Given the description of an element on the screen output the (x, y) to click on. 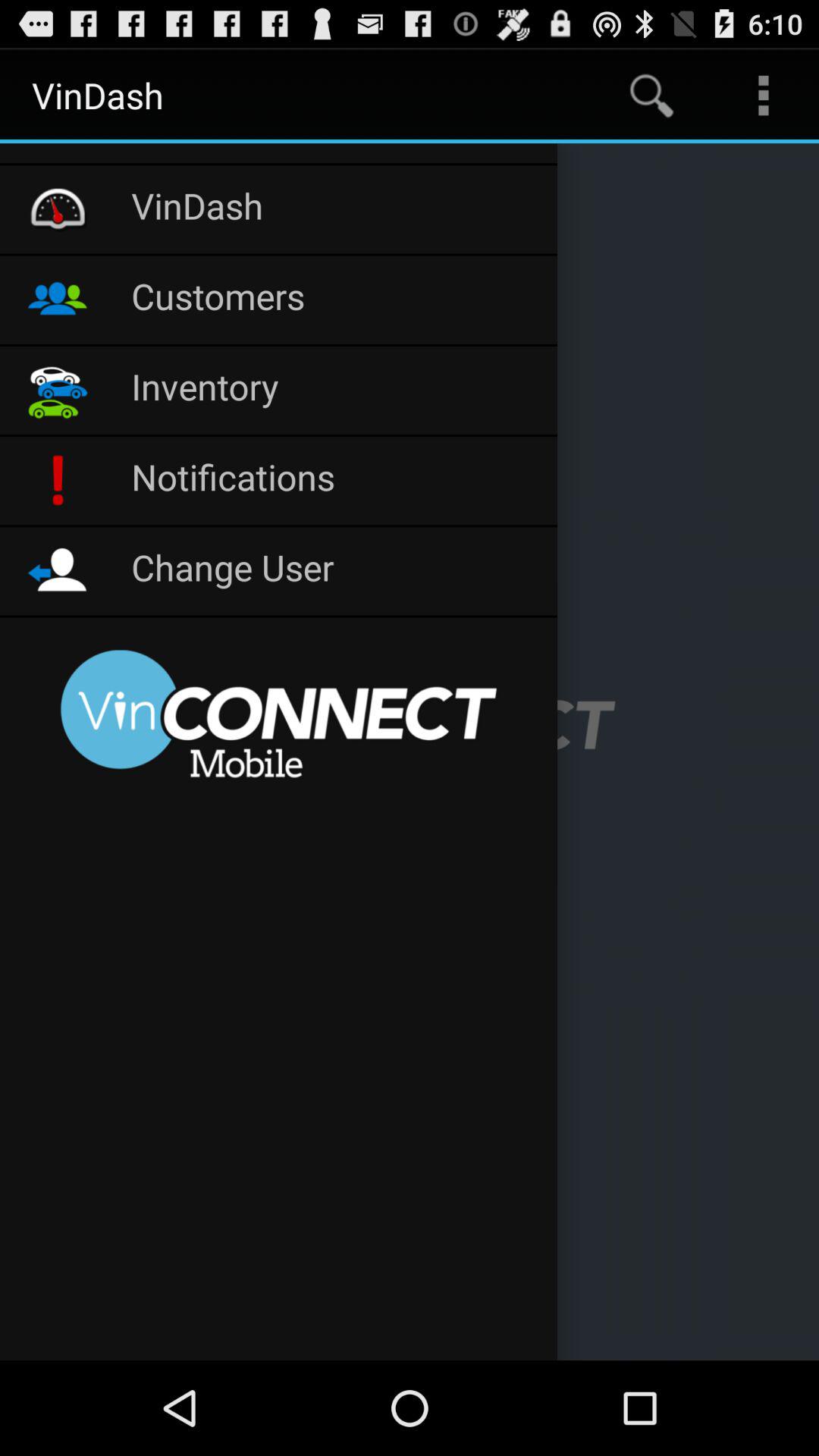
launch the icon below vindash app (278, 153)
